Given the description of an element on the screen output the (x, y) to click on. 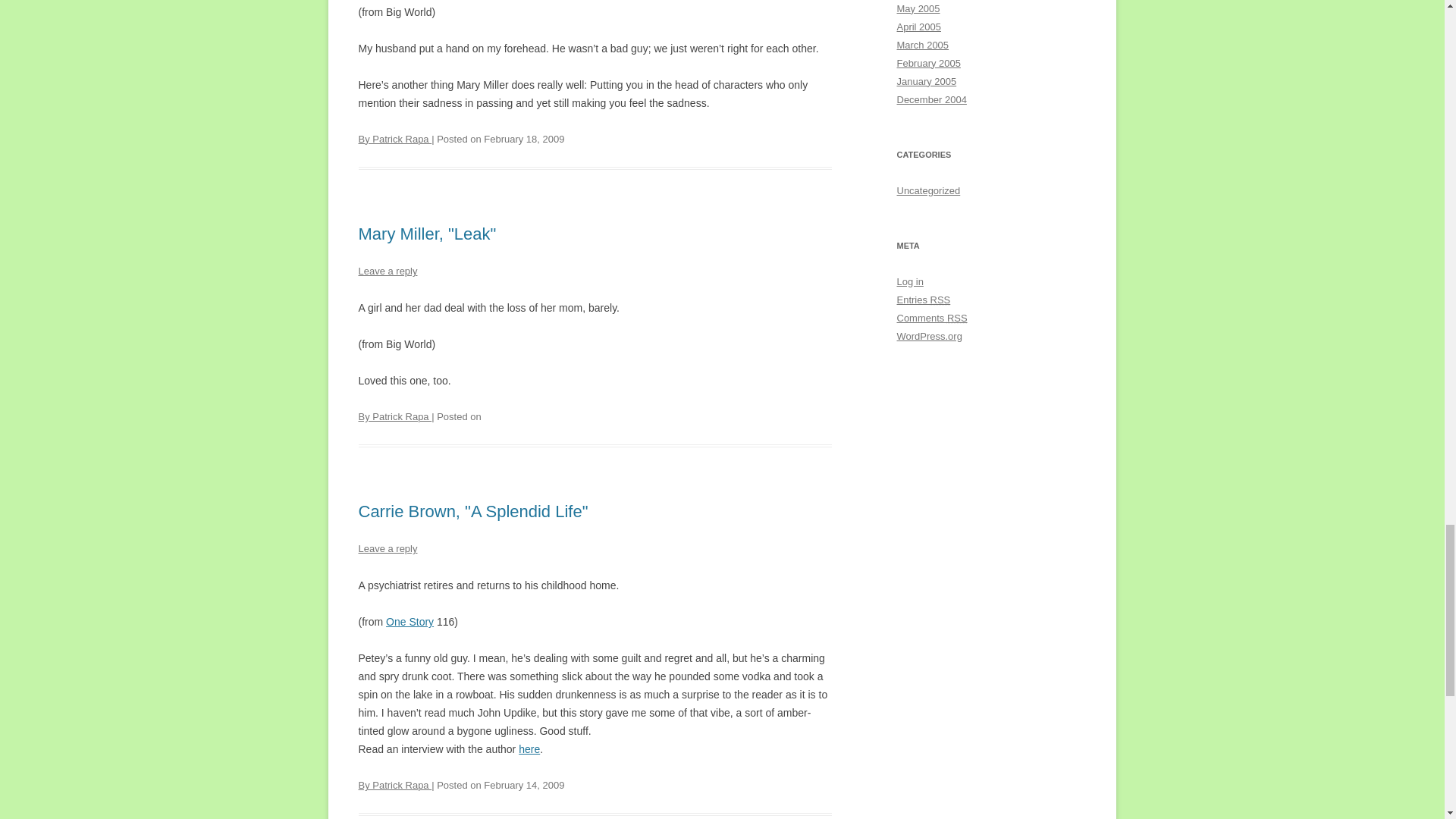
Leave a reply (387, 548)
here (529, 748)
Carrie Brown, "A Splendid Life" (473, 511)
By Patrick Rapa (394, 138)
Mary Miller, "Leak" (427, 233)
By Patrick Rapa (394, 416)
Leave a reply (387, 270)
Permalink to Mary Miller, "Leak" (427, 233)
One Story (409, 621)
Comment on Mary Miller, "Leak" (387, 270)
By Patrick Rapa (394, 785)
